Given the description of an element on the screen output the (x, y) to click on. 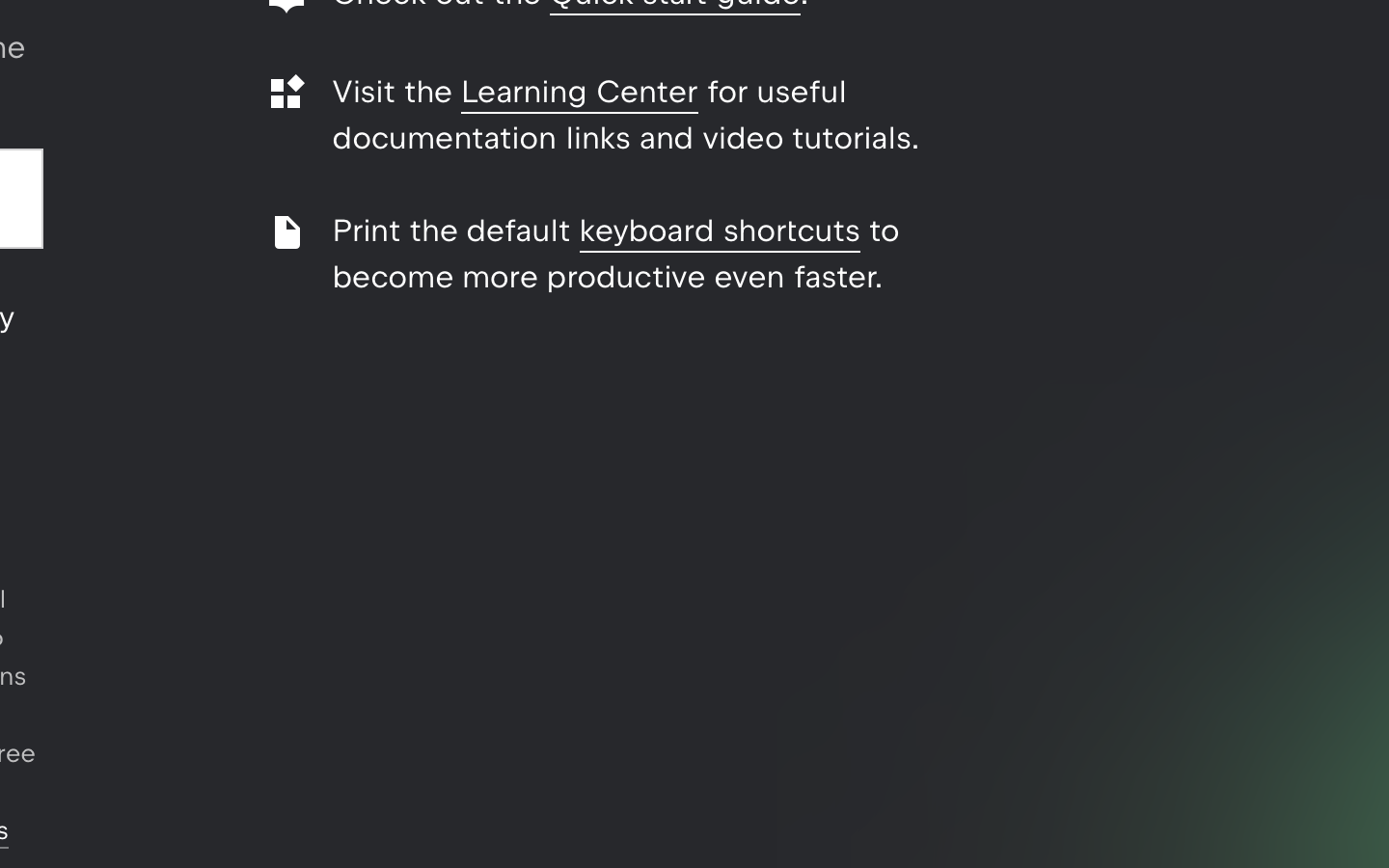
Learning Center Element type: AXStaticText (579, 91)
for useful documentation links and video tutorials. Element type: AXStaticText (625, 114)
keyboard shortcuts Element type: AXStaticText (719, 230)
to become more productive even faster. Element type: AXStaticText (615, 253)
Print the default Element type: AXStaticText (455, 230)
